Given the description of an element on the screen output the (x, y) to click on. 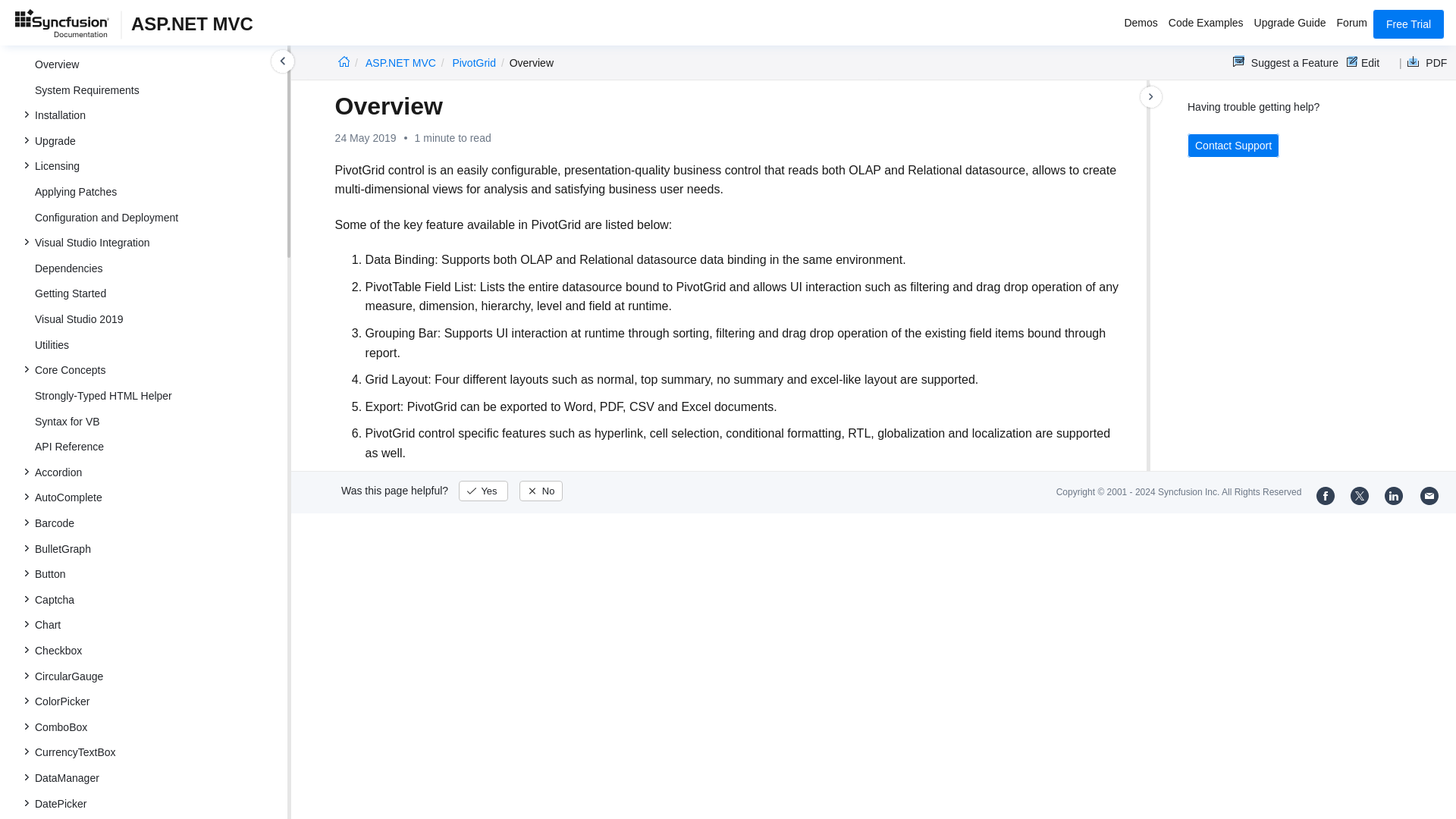
Suggest a Feature (1285, 62)
Download PDF (1423, 62)
Code Examples (1206, 24)
Demos (1139, 24)
PivotGrid (473, 62)
Overview (155, 64)
System Requirements (155, 89)
Forum (1352, 24)
Suggest a Feature (1285, 62)
Free Trial (1408, 24)
Edit (1361, 62)
Edit (1361, 62)
Upgrade Guide (1290, 24)
ASP.NET MVC (400, 62)
